Given the description of an element on the screen output the (x, y) to click on. 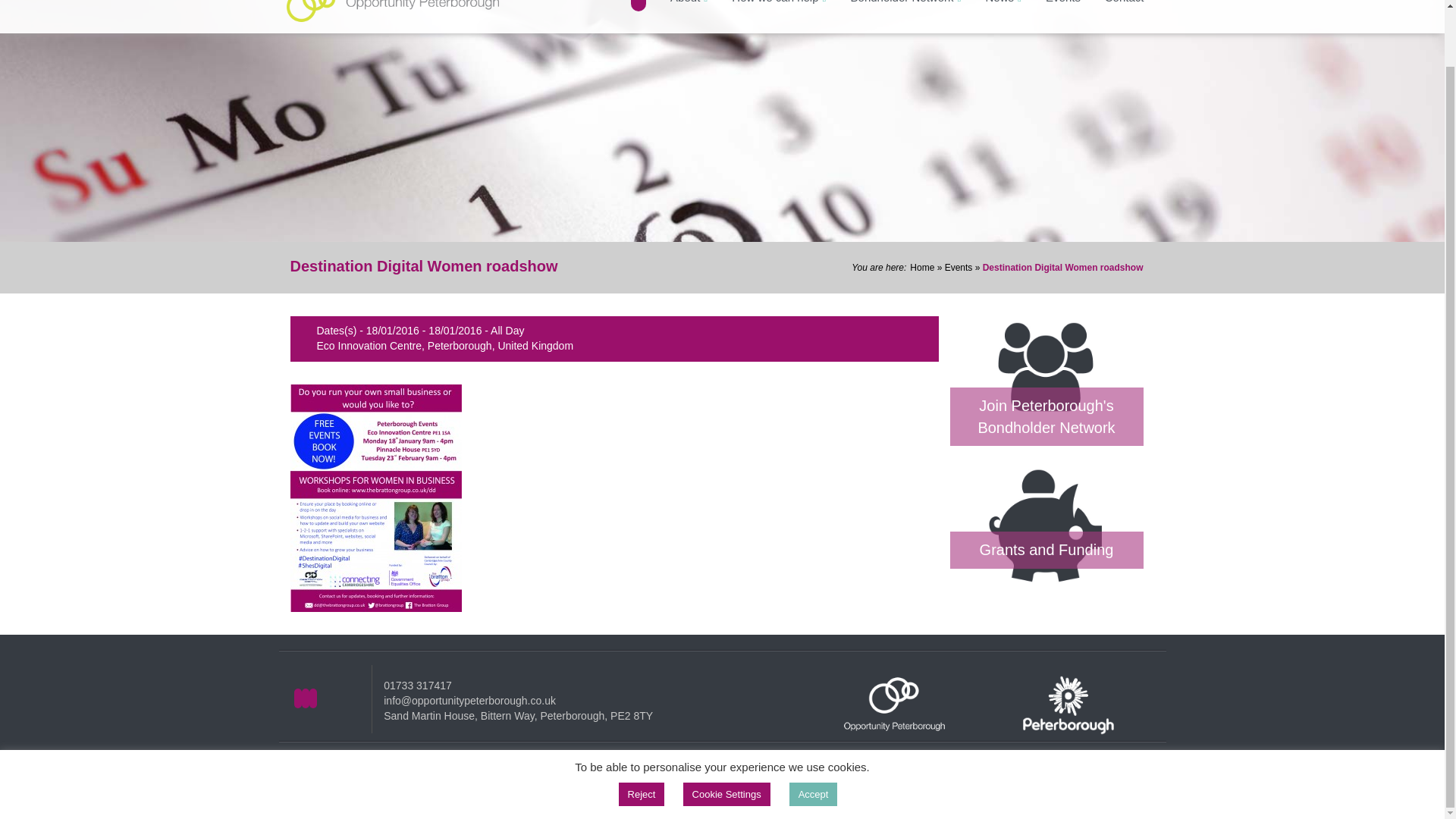
Opportunity Peterborough (392, 11)
